Given the description of an element on the screen output the (x, y) to click on. 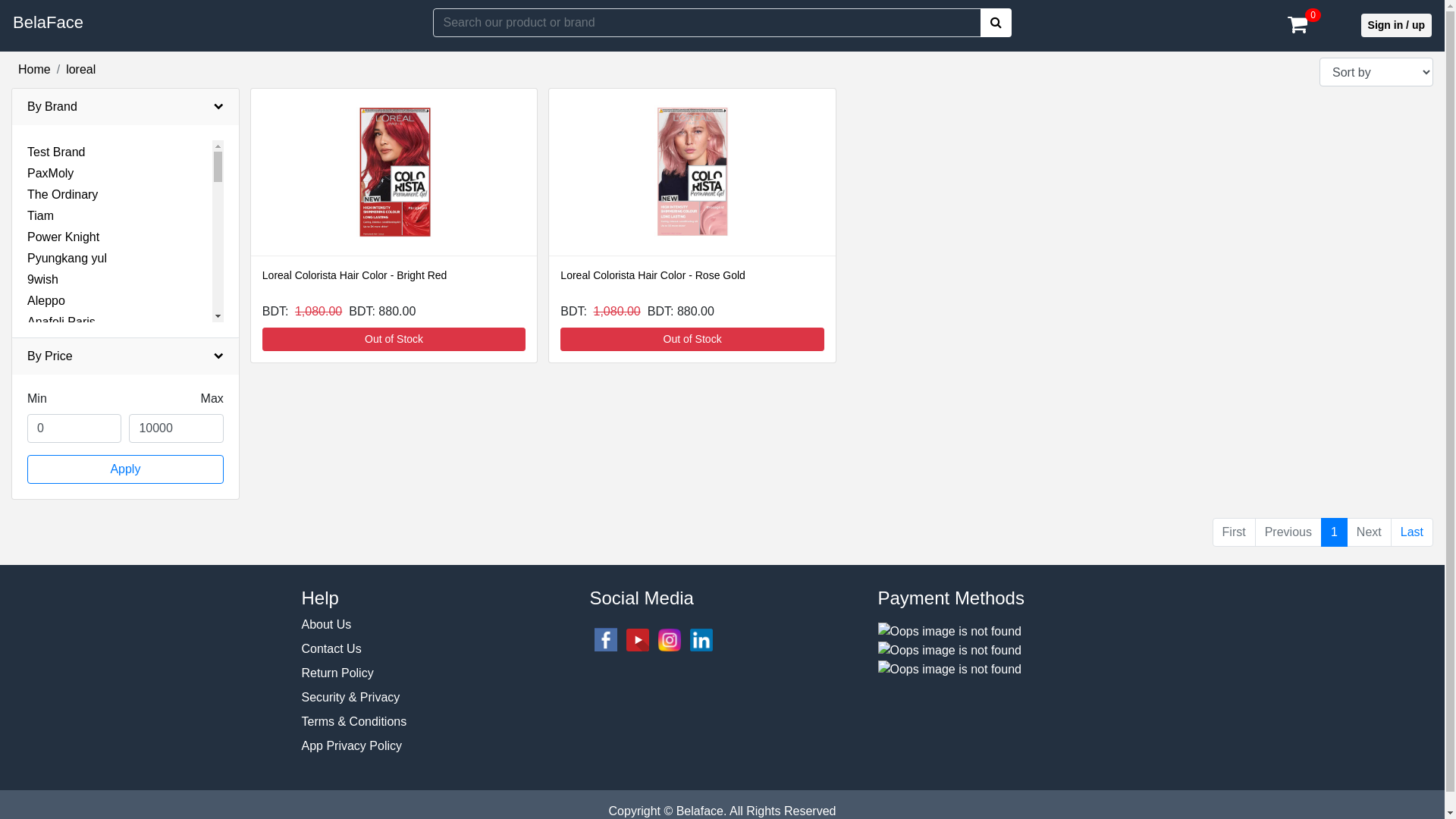
Nior Element type: text (38, 788)
Terms & Conditions Element type: text (354, 721)
Test Brand Element type: text (55, 151)
Security & Privacy Element type: text (350, 696)
Power Knight Element type: text (63, 236)
Anastasia Beverly Hills Element type: text (88, 342)
Anafeli Paris Element type: text (61, 321)
loreal Element type: text (80, 68)
Lador Element type: text (42, 618)
Apply Element type: text (125, 469)
Neutrogena Element type: text (59, 767)
Home Element type: text (34, 68)
Garnier Element type: text (47, 533)
Lizk Element type: text (37, 639)
Sign in / up Element type: text (1396, 25)
Milani Element type: text (43, 703)
Pyungkang yul Element type: text (66, 257)
PaxMoly Element type: text (50, 172)
App Privacy Policy Element type: text (351, 745)
Missha Element type: text (46, 724)
Makeup Revolution Element type: text (79, 682)
Tiam Element type: text (40, 215)
LANEIGE Element type: text (53, 597)
Innisfree Element type: text (50, 555)
Cetaphil Element type: text (49, 470)
Boots Element type: text (42, 406)
Banila co Element type: text (52, 385)
About Us Element type: text (326, 624)
Return Policy Element type: text (337, 672)
COSRX Element type: text (48, 427)
Out of Stock Element type: text (394, 339)
Nivea Element type: text (42, 809)
BelaFace Element type: text (47, 21)
By Price Element type: text (125, 356)
Evoluderm Element type: text (55, 512)
Last Element type: text (1411, 531)
Contact Us Element type: text (331, 648)
Out of Stock Element type: text (692, 339)
The Ordinary Element type: text (62, 194)
Aroma Element type: text (44, 363)
By Brand Element type: text (125, 106)
CeraVe Element type: text (47, 448)
Nature Republic Element type: text (70, 746)
9wish Element type: text (42, 279)
Aleppo Element type: text (46, 300)
MAC Element type: text (40, 661)
Cosmod Element type: text (49, 491)
Jordana Element type: text (49, 576)
